Given the description of an element on the screen output the (x, y) to click on. 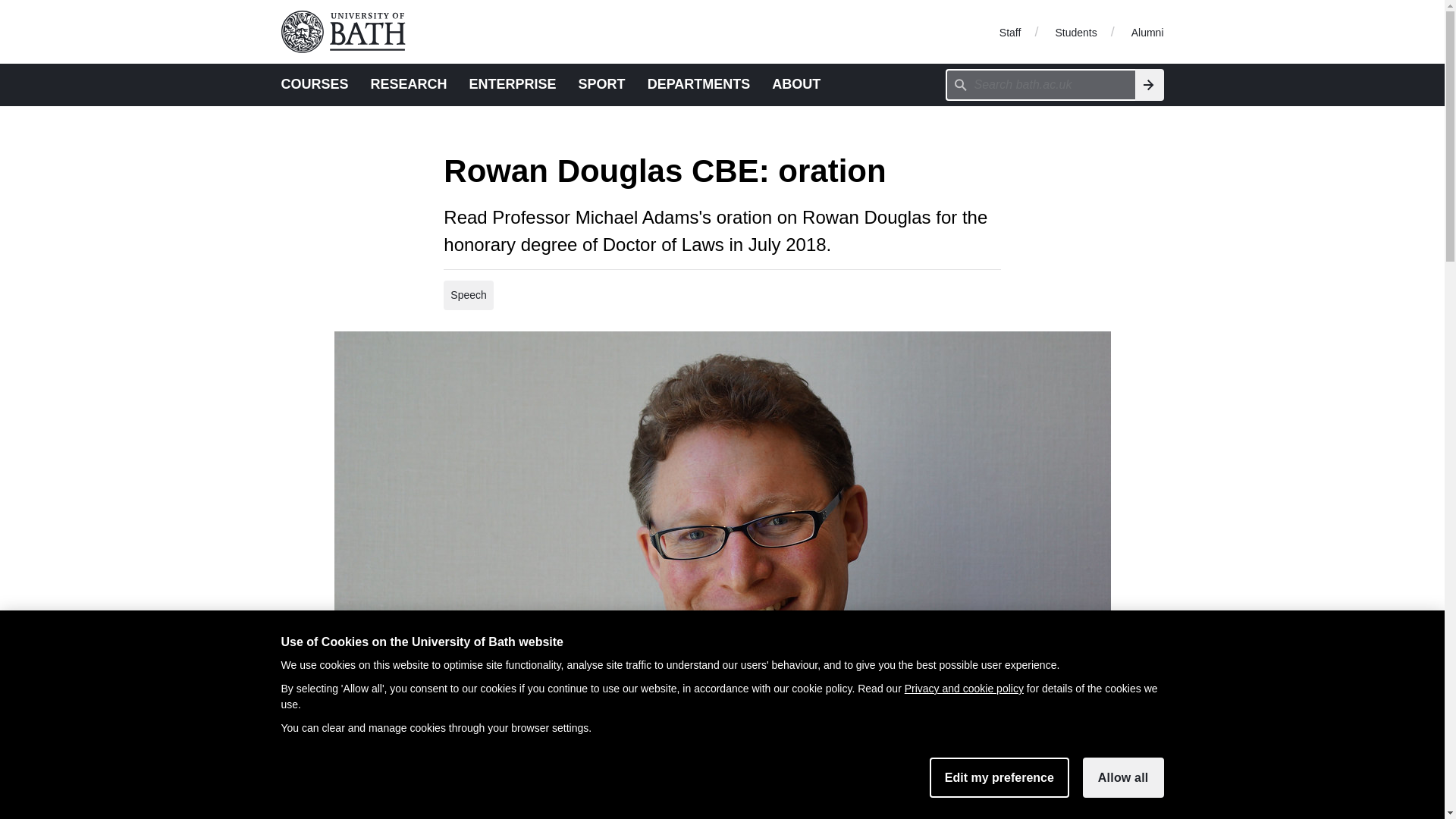
Privacy and cookie policy (963, 688)
COURSES (314, 83)
Type search term here (1039, 84)
RESEARCH (408, 83)
Students (1075, 31)
Edit my preference (999, 777)
DEPARTMENTS (699, 83)
Alumni (1147, 31)
SPORT (602, 83)
Staff (1010, 31)
Allow all (1123, 777)
ENTERPRISE (512, 83)
University of Bath (348, 31)
ABOUT (796, 83)
